Given the description of an element on the screen output the (x, y) to click on. 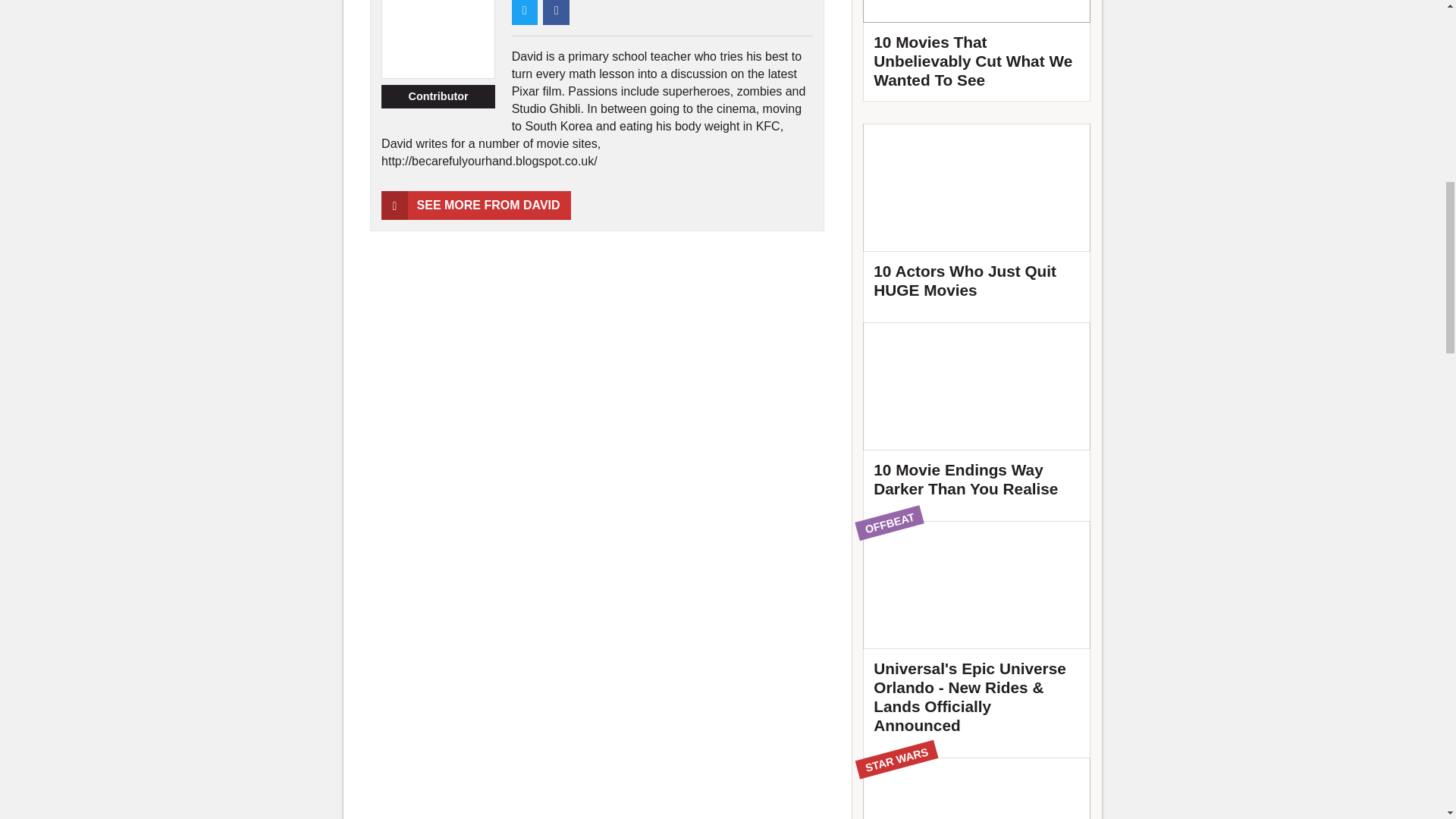
David Opie's Twitter (525, 12)
10 Actors Who Just Quit HUGE Movies (976, 217)
10 Huge Star Wars Moments That Happened In The Background (976, 788)
David Opie's Twitter (556, 12)
10 Movie Endings Way Darker Than You Realise (976, 416)
Contributor (438, 96)
Featured Video (976, 50)
